Given the description of an element on the screen output the (x, y) to click on. 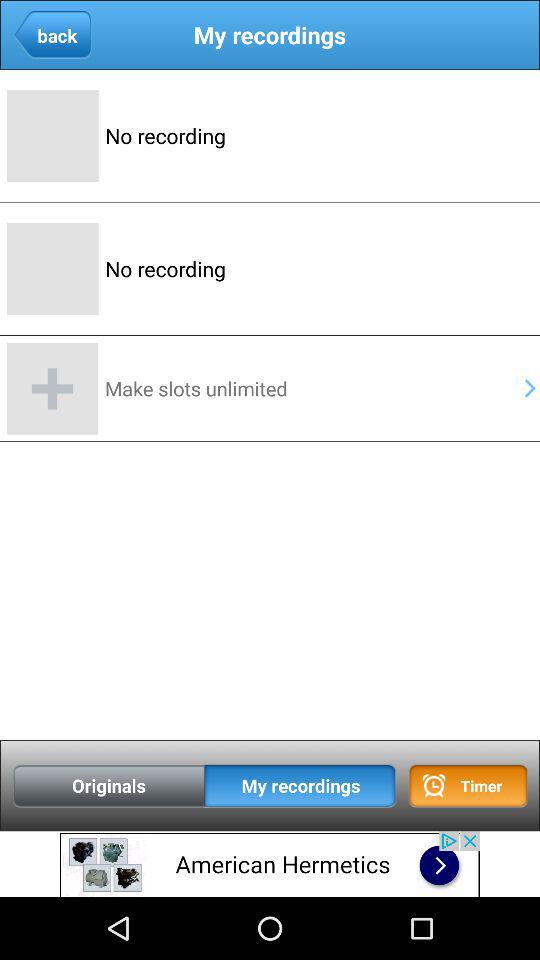
timer button (468, 785)
